Given the description of an element on the screen output the (x, y) to click on. 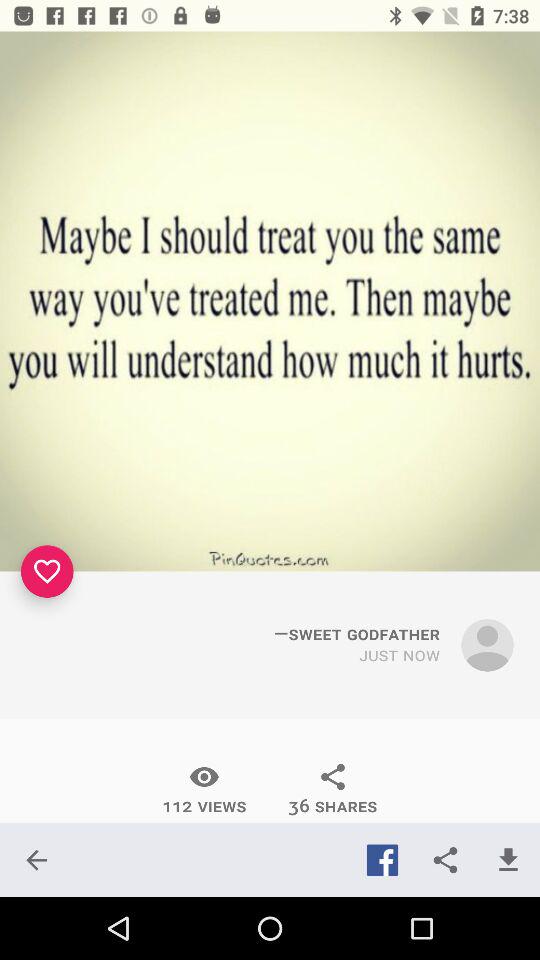
click icon below just now item (332, 789)
